Given the description of an element on the screen output the (x, y) to click on. 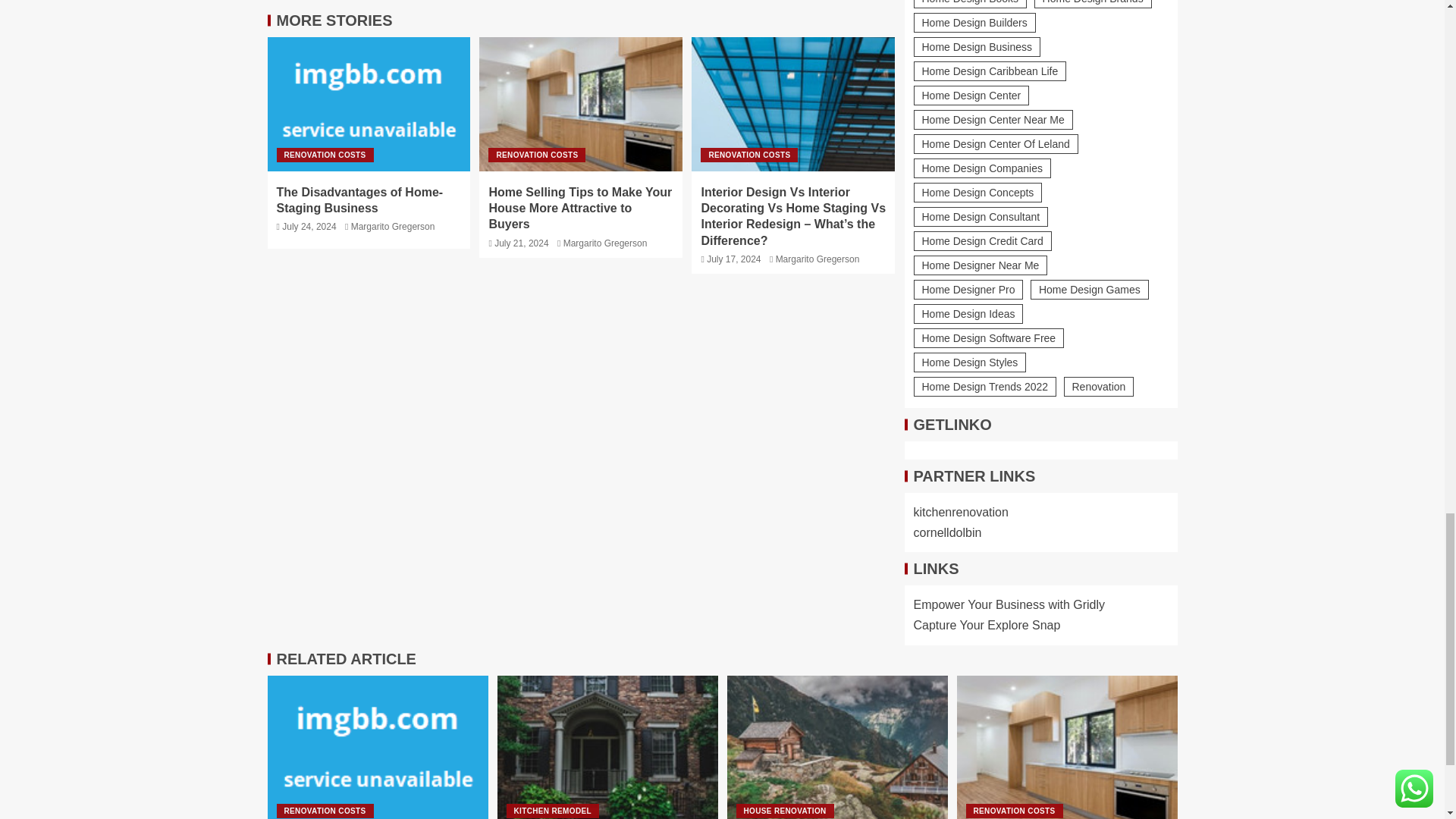
Two Way Radios Used and the Construction Trade (836, 747)
RENOVATION COSTS (536, 155)
The Disadvantages of Home-Staging Business (368, 103)
The Disadvantages of Home-Staging Business (359, 199)
The Disadvantages of Home-Staging Business (376, 747)
RENOVATION COSTS (324, 155)
Margarito Gregerson (605, 243)
Modernize Your Bathroom With A Professional Remodel (607, 747)
Margarito Gregerson (392, 226)
